Given the description of an element on the screen output the (x, y) to click on. 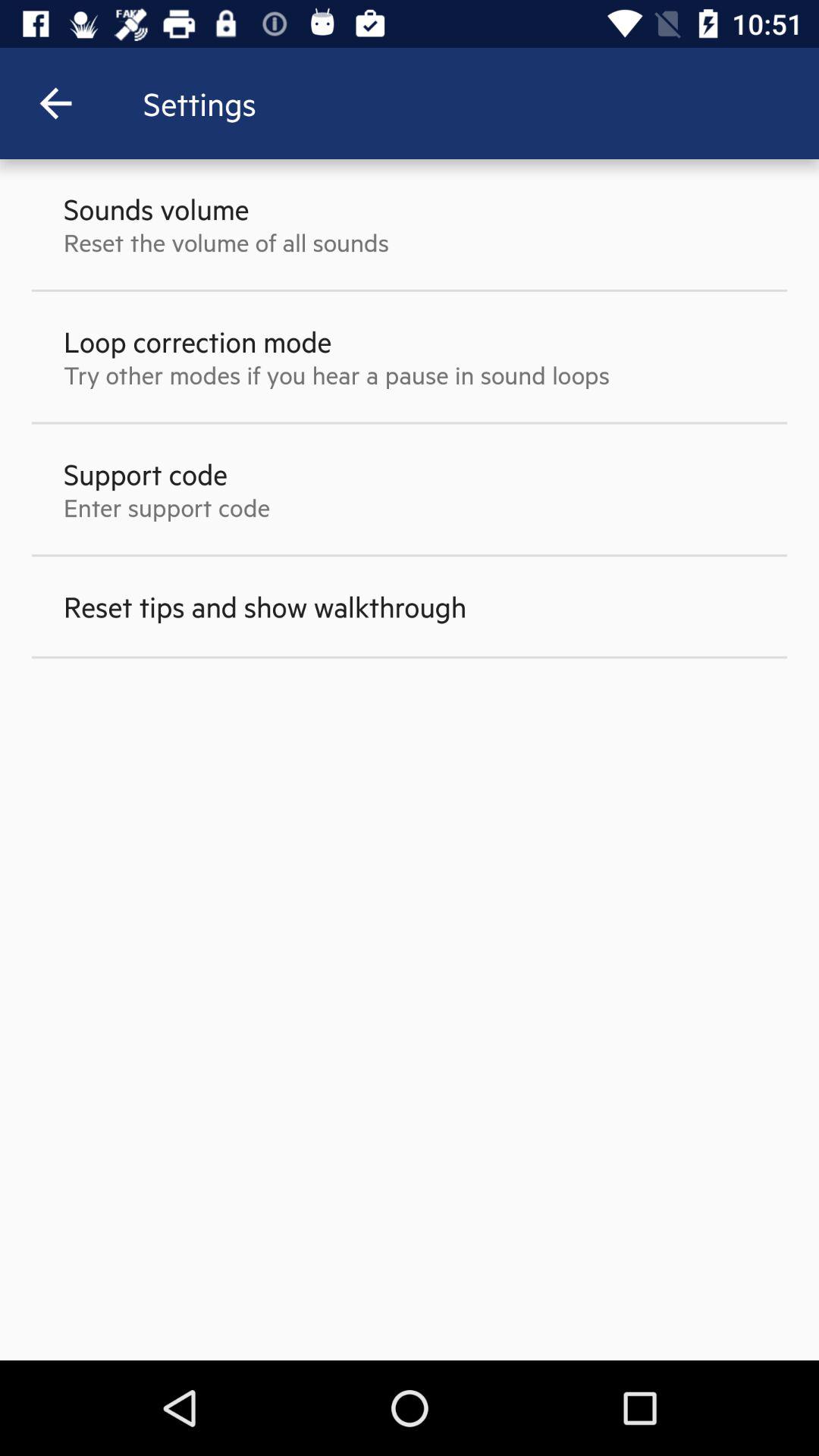
turn off icon above the sounds volume icon (55, 103)
